Given the description of an element on the screen output the (x, y) to click on. 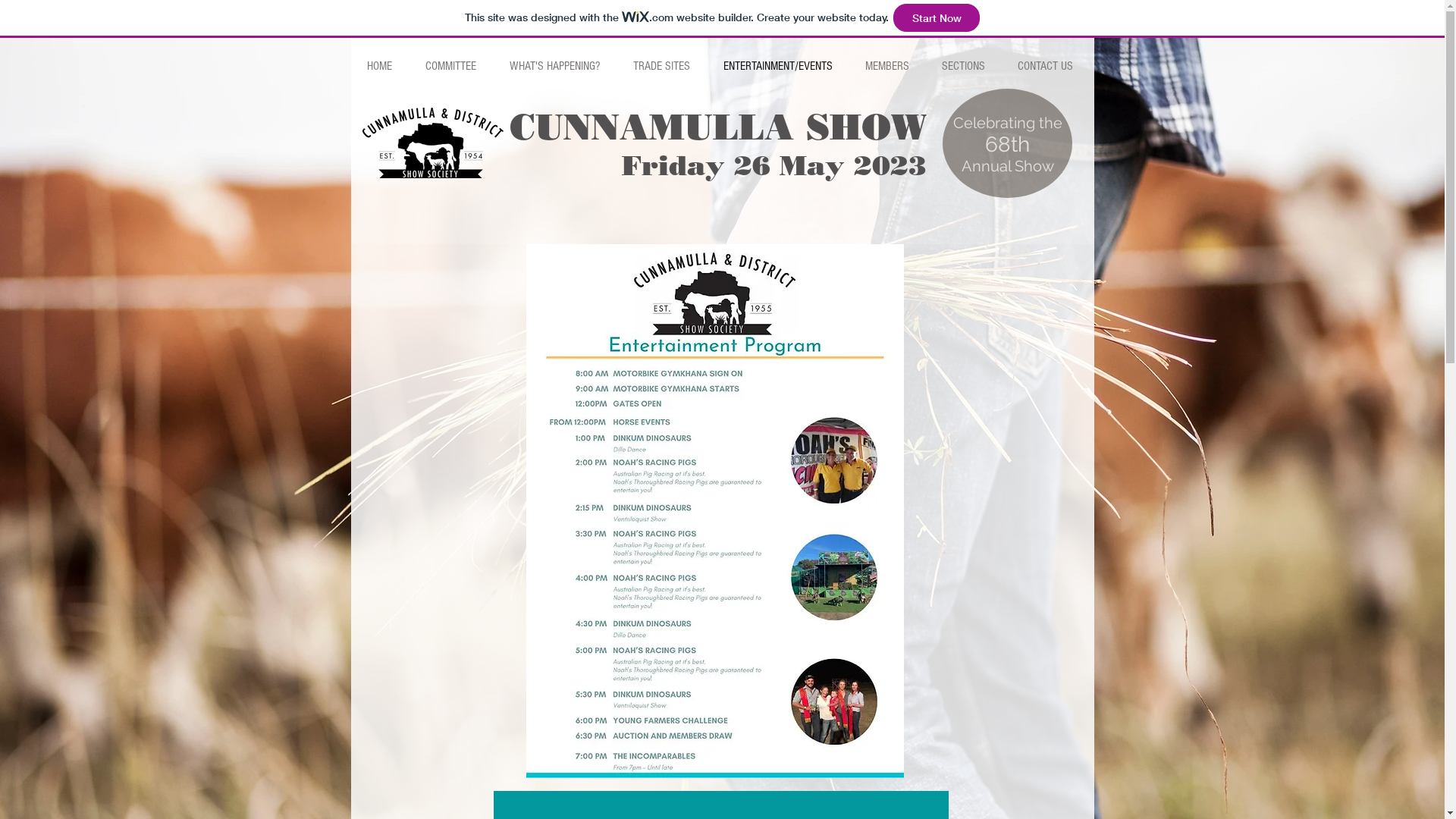
TRADE SITES Element type: text (660, 65)
HOME Element type: text (378, 65)
COMMITTEE Element type: text (449, 65)
CONTACT US Element type: text (1044, 65)
WHAT'S HAPPENING? Element type: text (554, 65)
ENTERTAINMENT/EVENTS Element type: text (777, 65)
MEMBERS Element type: text (885, 65)
